Given the description of an element on the screen output the (x, y) to click on. 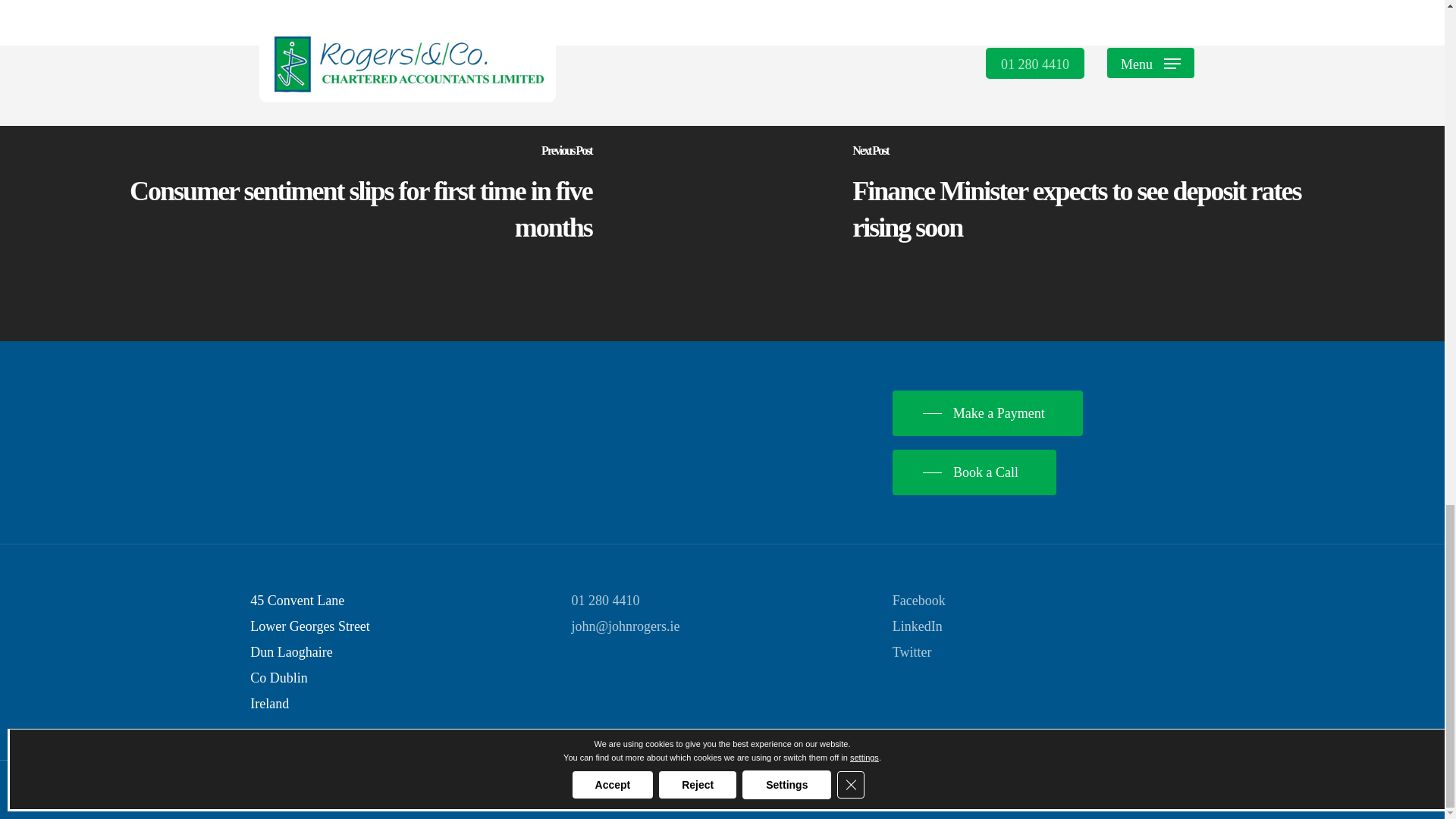
Book a Call (974, 472)
Practice Hook (718, 790)
LinkedIn (917, 626)
Facebook (918, 600)
01 280 4410 (606, 600)
Terms (589, 790)
Cookies (639, 790)
Make a Payment (987, 412)
Twitter (911, 652)
Privacy (541, 790)
